Given the description of an element on the screen output the (x, y) to click on. 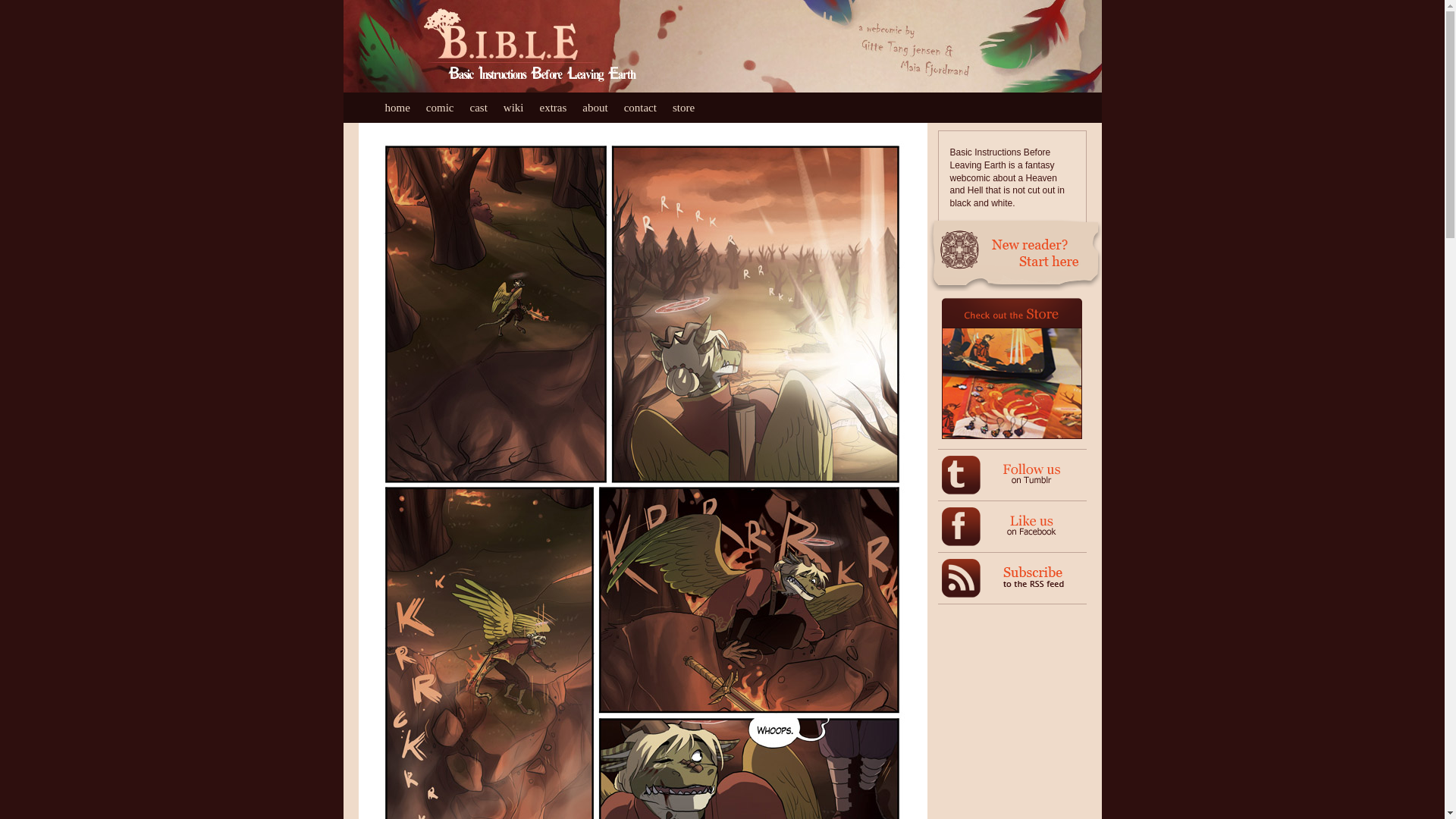
Go to the first page of Rebound (1014, 287)
extras (560, 107)
Subscribe to the RSS feed (1032, 583)
home (405, 107)
wiki (521, 107)
Like B.I.B.L.E. on Facebook (960, 542)
Follow B.I.B.L.E. on Tumblr (960, 491)
Like B.I.B.L.E. on Facebook (1031, 532)
cast (485, 107)
Go to the B.I.B.L.E. store (1009, 435)
store (691, 107)
Follow B.I.B.L.E. on Tumblr (1031, 480)
Subscribe to the RSS feed (960, 593)
about (602, 107)
comic (448, 107)
